Given the description of an element on the screen output the (x, y) to click on. 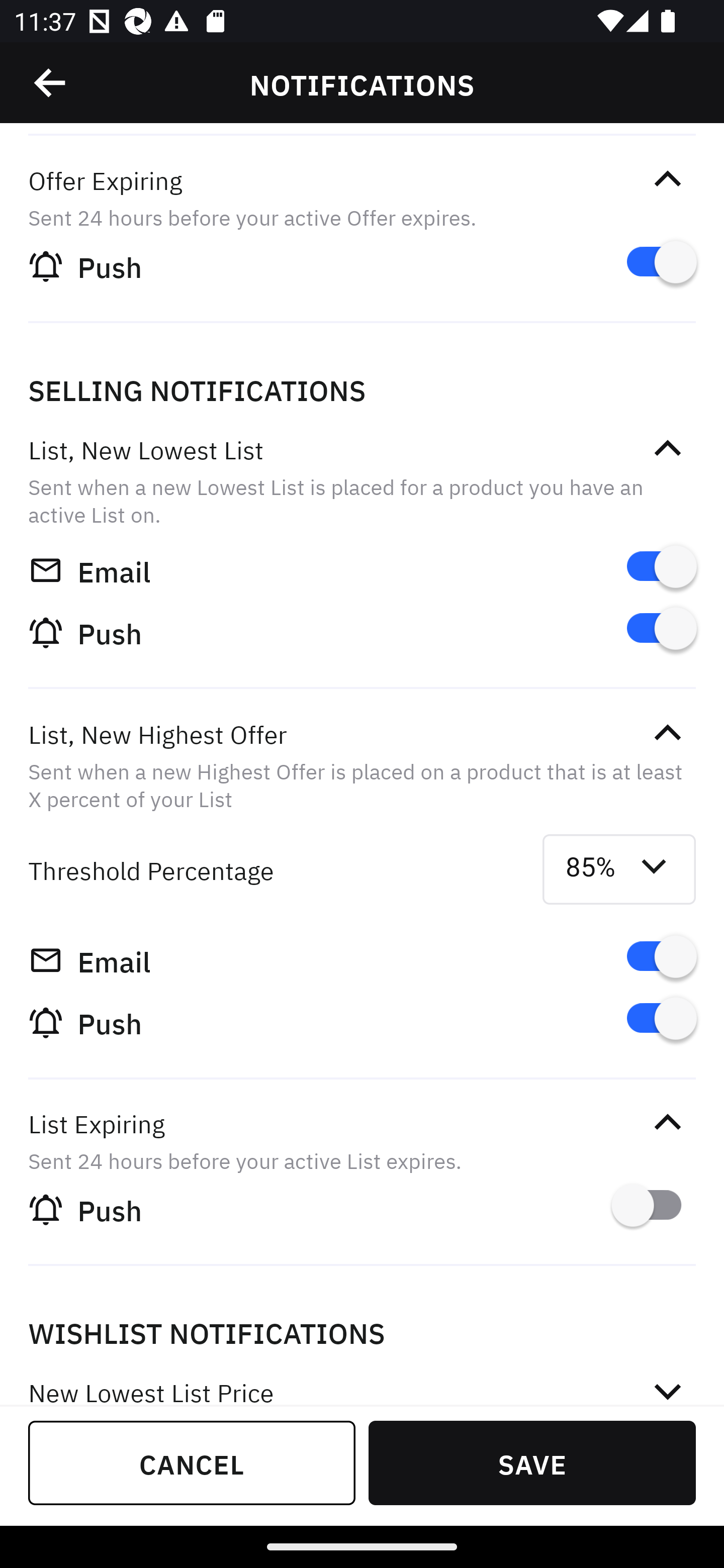
 (50, 83)
 (667, 179)
 (667, 448)
 (667, 732)
85%  (619, 869)
 (667, 1122)
New Lowest List Price  (361, 1377)
 (667, 1386)
CANCEL (191, 1462)
SAVE (531, 1462)
